Given the description of an element on the screen output the (x, y) to click on. 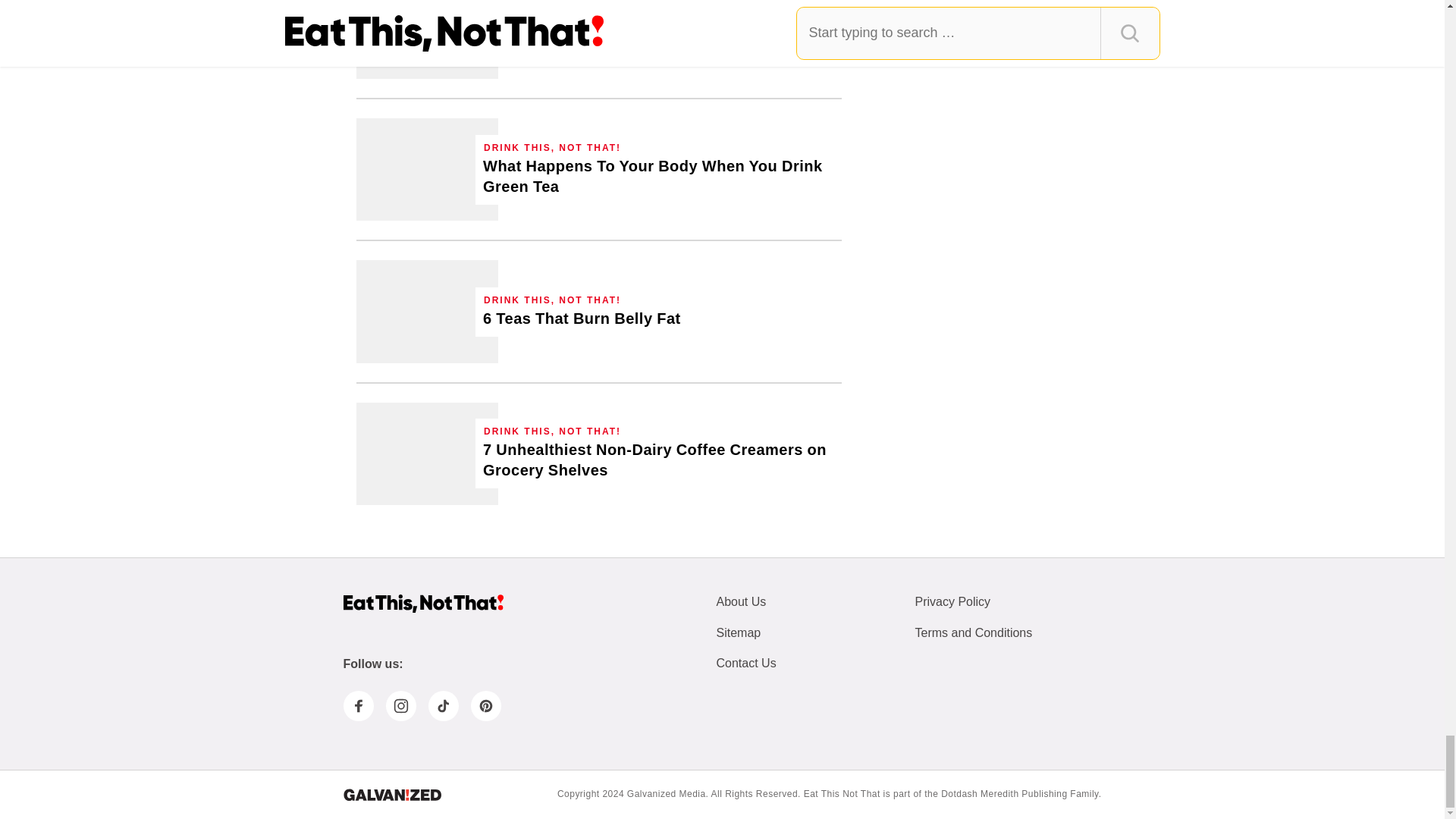
What Happens To Your Body When You Drink Green Tea (658, 176)
7 Unhealthiest Non-Dairy Coffee Creamers on Grocery Shelves (658, 459)
6 Best Immune-Boosting Drinks to Fight Off Sickness (426, 39)
7 Unhealthiest Non-Dairy Coffee Creamers on Grocery Shelves (426, 453)
What Happens To Your Body When You Drink Green Tea (426, 168)
6 Teas That Burn Belly Fat (582, 318)
6 Teas That Burn Belly Fat (426, 311)
6 Best Immune-Boosting Drinks to Fight Off Sickness (603, 34)
